Given the description of an element on the screen output the (x, y) to click on. 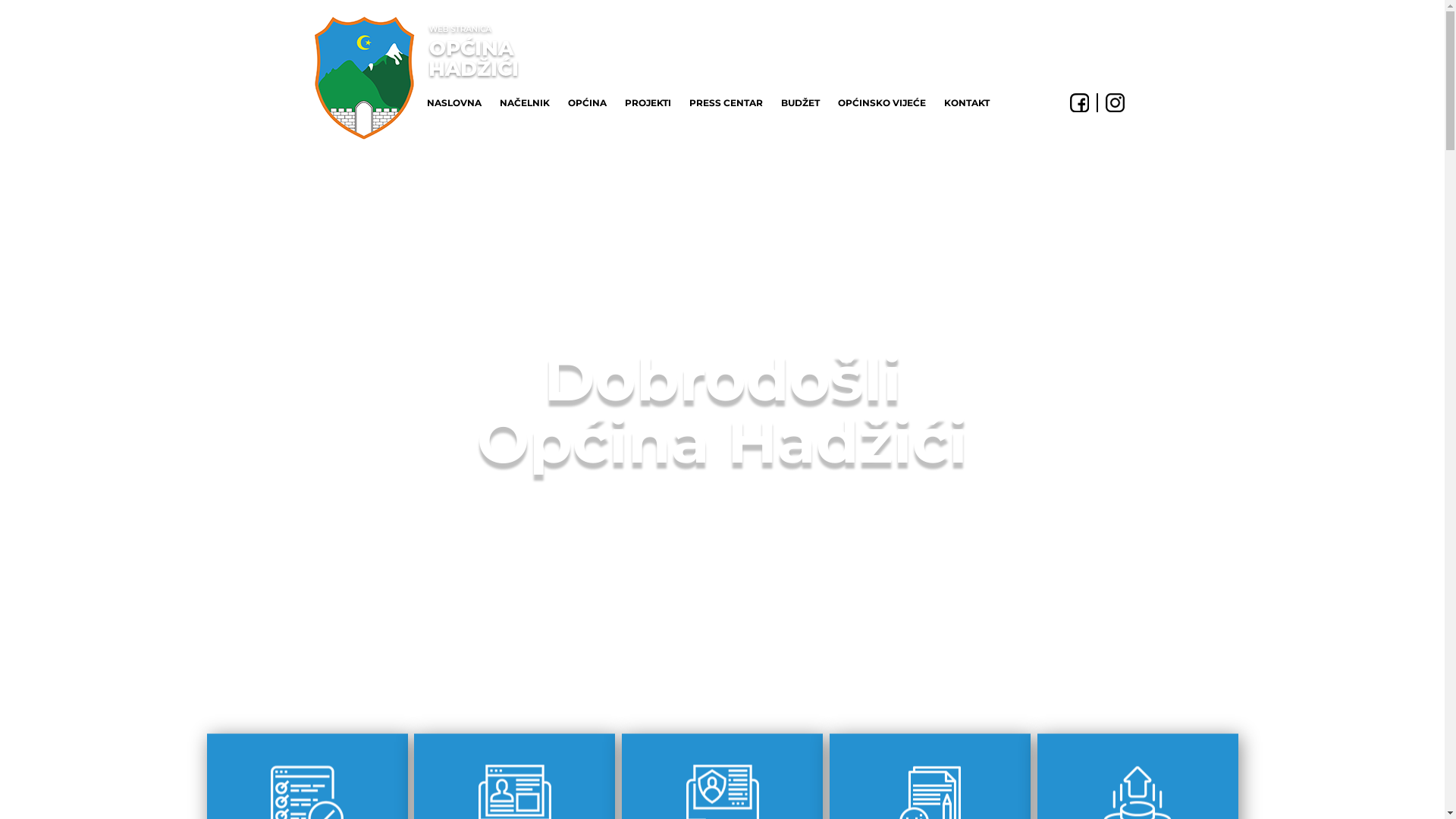
KONTAKT Element type: text (965, 102)
PRESS CENTAR Element type: text (725, 102)
NASLOVNA Element type: text (453, 102)
PROJEKTI Element type: text (647, 102)
